Given the description of an element on the screen output the (x, y) to click on. 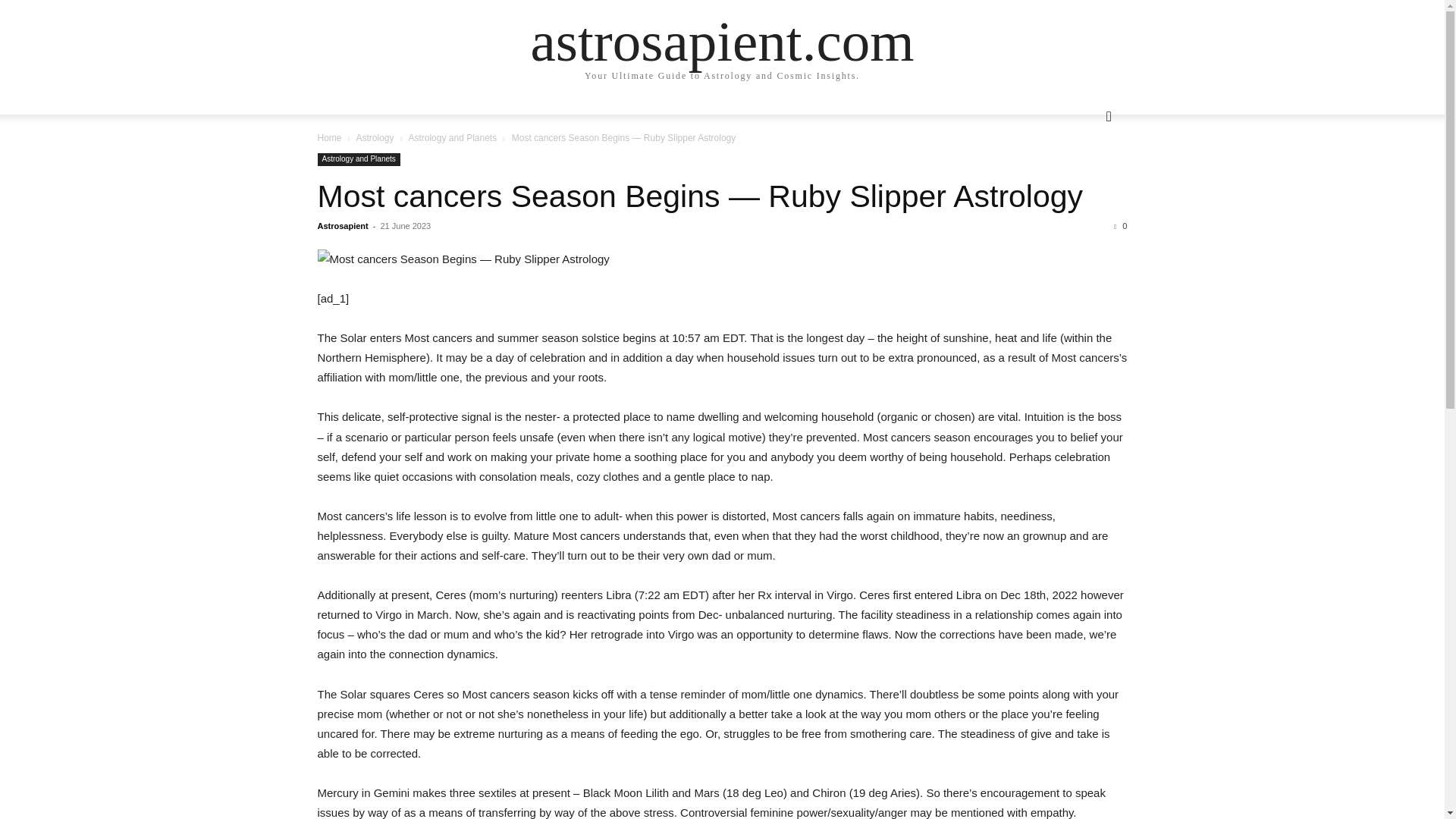
View all posts in Astrology (374, 137)
Search (1085, 177)
Astrology and Planets (451, 137)
Astrosapient (342, 225)
Home (328, 137)
Astrology and Planets (357, 159)
Astrology (374, 137)
View all posts in Astrology and Planets (451, 137)
astrosapient.com (721, 41)
0 (1119, 225)
